Given the description of an element on the screen output the (x, y) to click on. 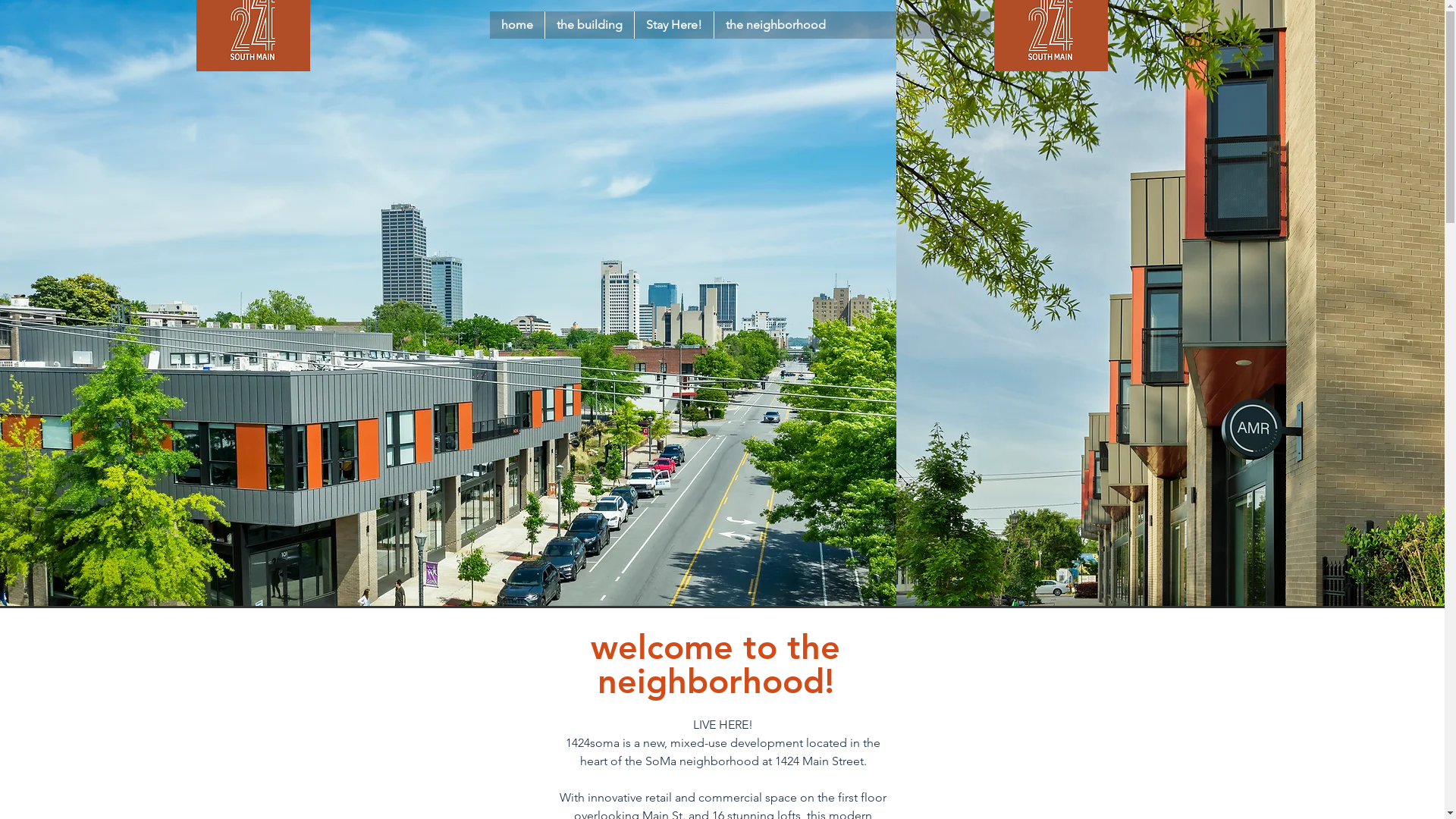
the neighborhood Element type: text (775, 24)
Stay Here! Element type: text (673, 24)
the building Element type: text (588, 24)
current availability Element type: text (1146, 21)
home Element type: text (516, 24)
